Given the description of an element on the screen output the (x, y) to click on. 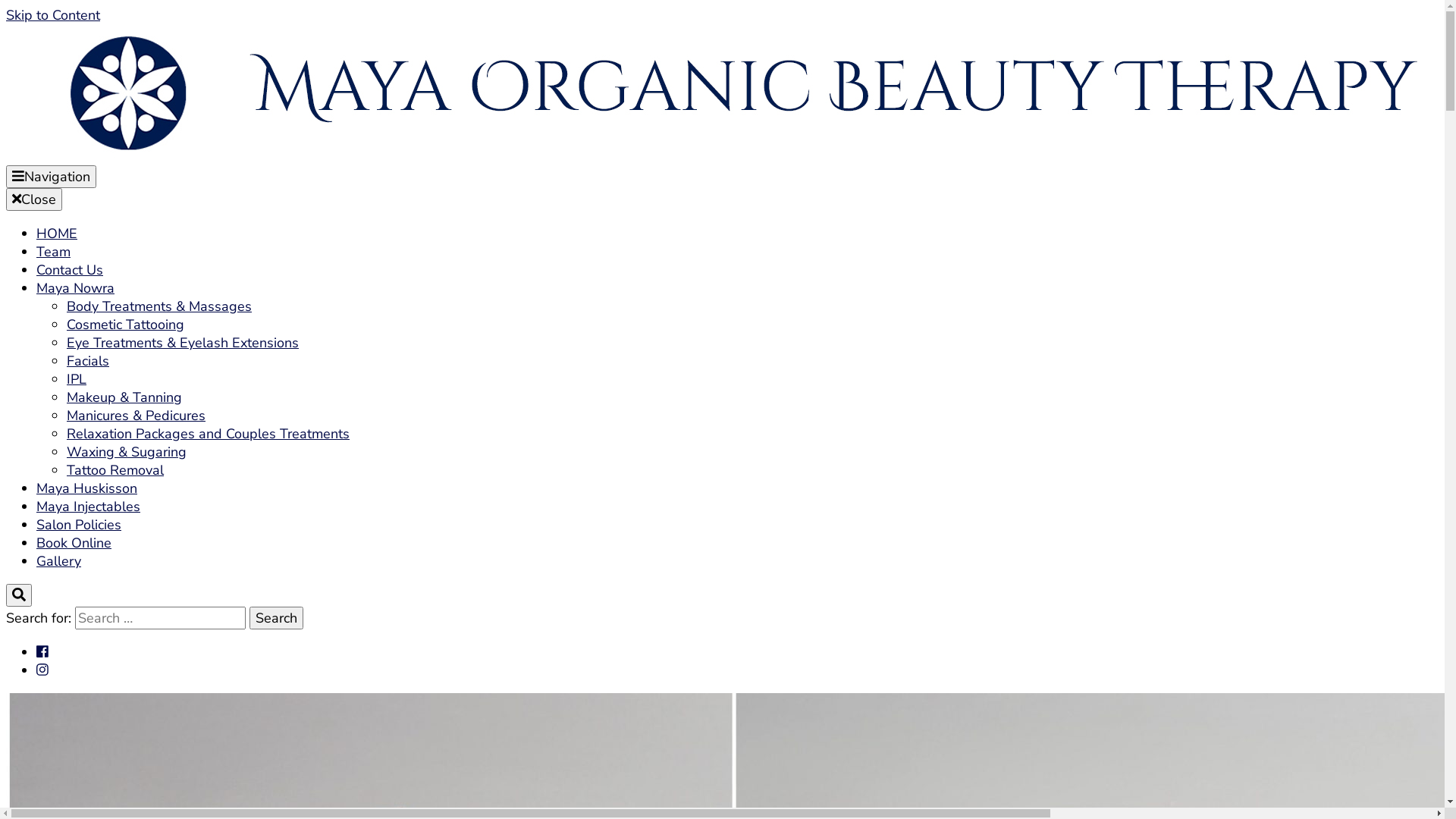
Search Element type: text (276, 617)
Eye Treatments & Eyelash Extensions Element type: text (182, 342)
Skip to Content Element type: text (53, 15)
Navigation Element type: text (51, 176)
Maya Injectables Element type: text (88, 506)
Book Online Element type: text (73, 542)
Makeup & Tanning Element type: text (124, 397)
Body Treatments & Massages Element type: text (158, 306)
Facials Element type: text (87, 360)
HOME Element type: text (56, 233)
Gallery Element type: text (58, 561)
Relaxation Packages and Couples Treatments Element type: text (207, 433)
Maya Nowra Element type: text (75, 288)
Maya Organic Beauty Therapy Element type: text (390, 227)
IPL Element type: text (76, 379)
Team Element type: text (53, 251)
Tattoo Removal Element type: text (114, 470)
Cosmetic Tattooing Element type: text (125, 324)
Manicures & Pedicures Element type: text (135, 415)
Close Element type: text (34, 199)
Contact Us Element type: text (69, 269)
Maya Huskisson Element type: text (86, 488)
Waxing & Sugaring Element type: text (126, 451)
Salon Policies Element type: text (78, 524)
